Given the description of an element on the screen output the (x, y) to click on. 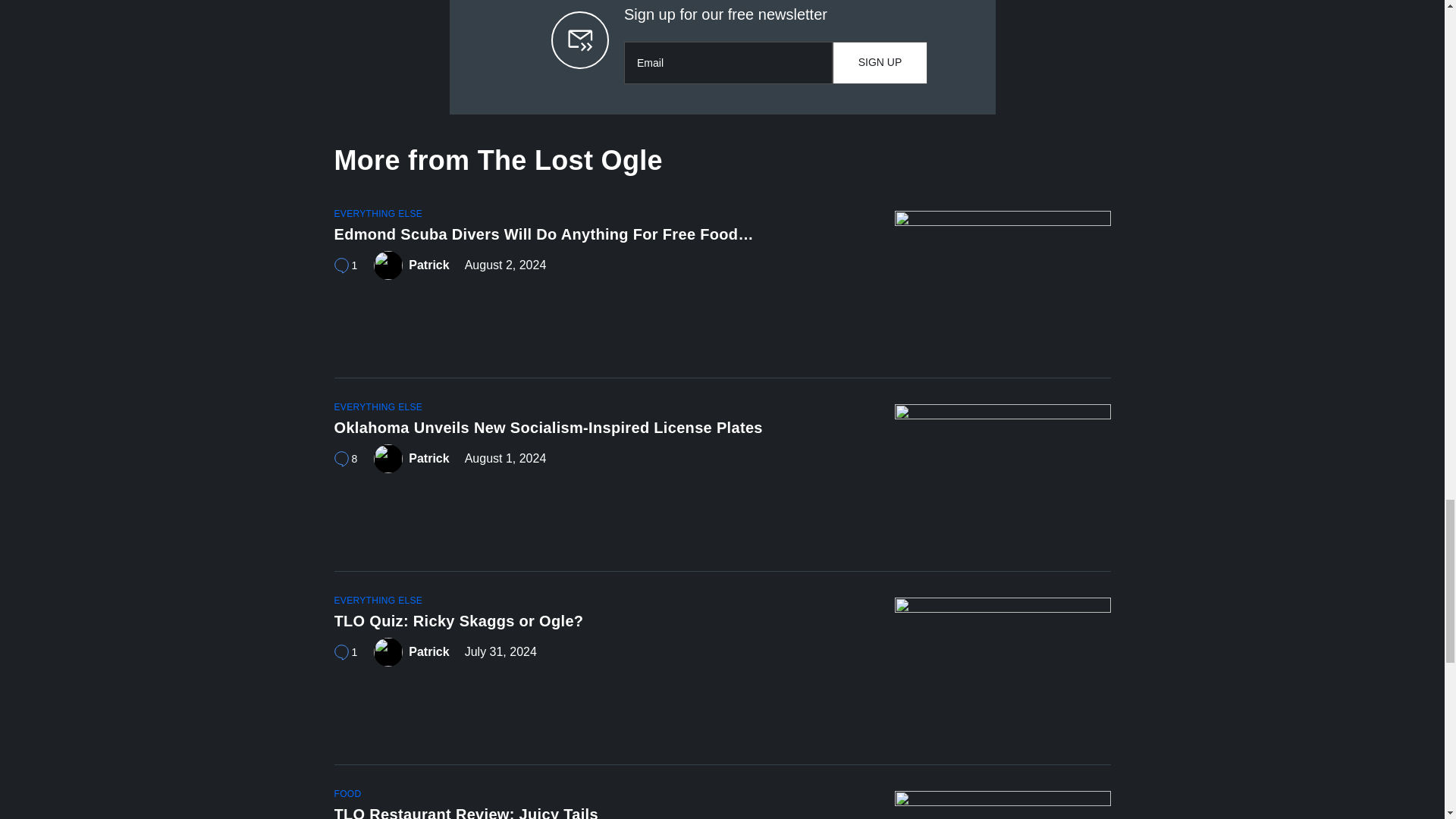
SIGN UP (879, 62)
EVERYTHING ELSE (377, 214)
